Given the description of an element on the screen output the (x, y) to click on. 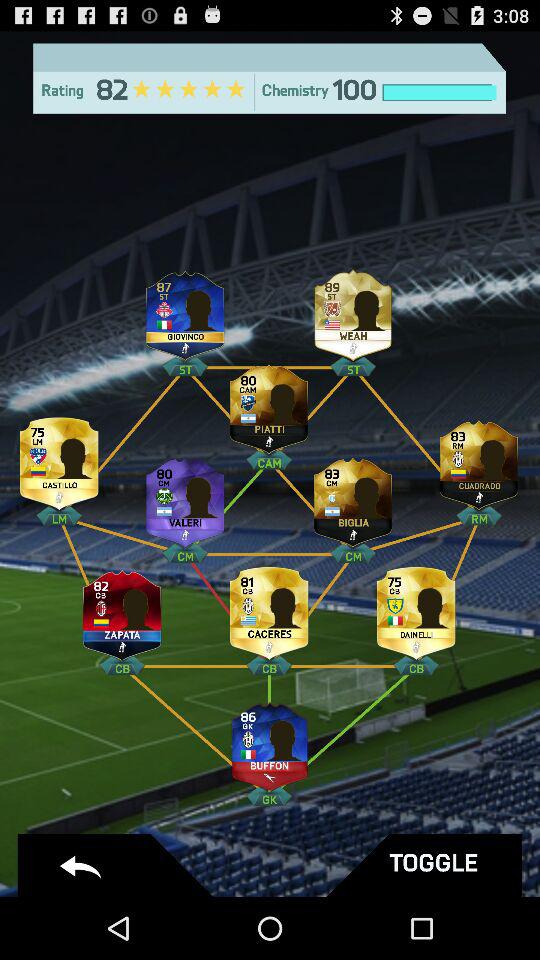
view this player (269, 404)
